Given the description of an element on the screen output the (x, y) to click on. 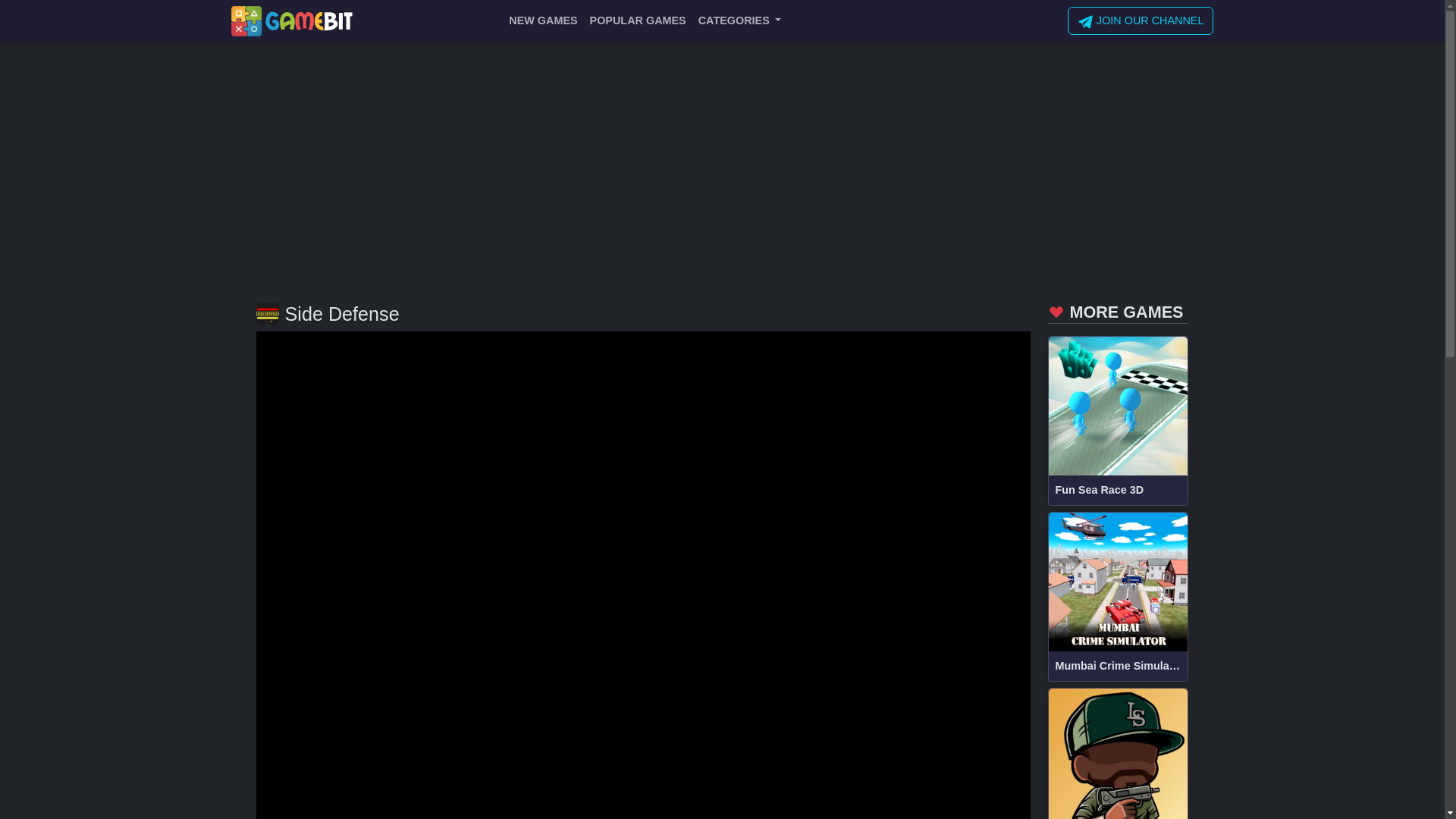
NEW GAMES (542, 20)
POPULAR GAMES (638, 20)
CATEGORIES (740, 20)
